Given the description of an element on the screen output the (x, y) to click on. 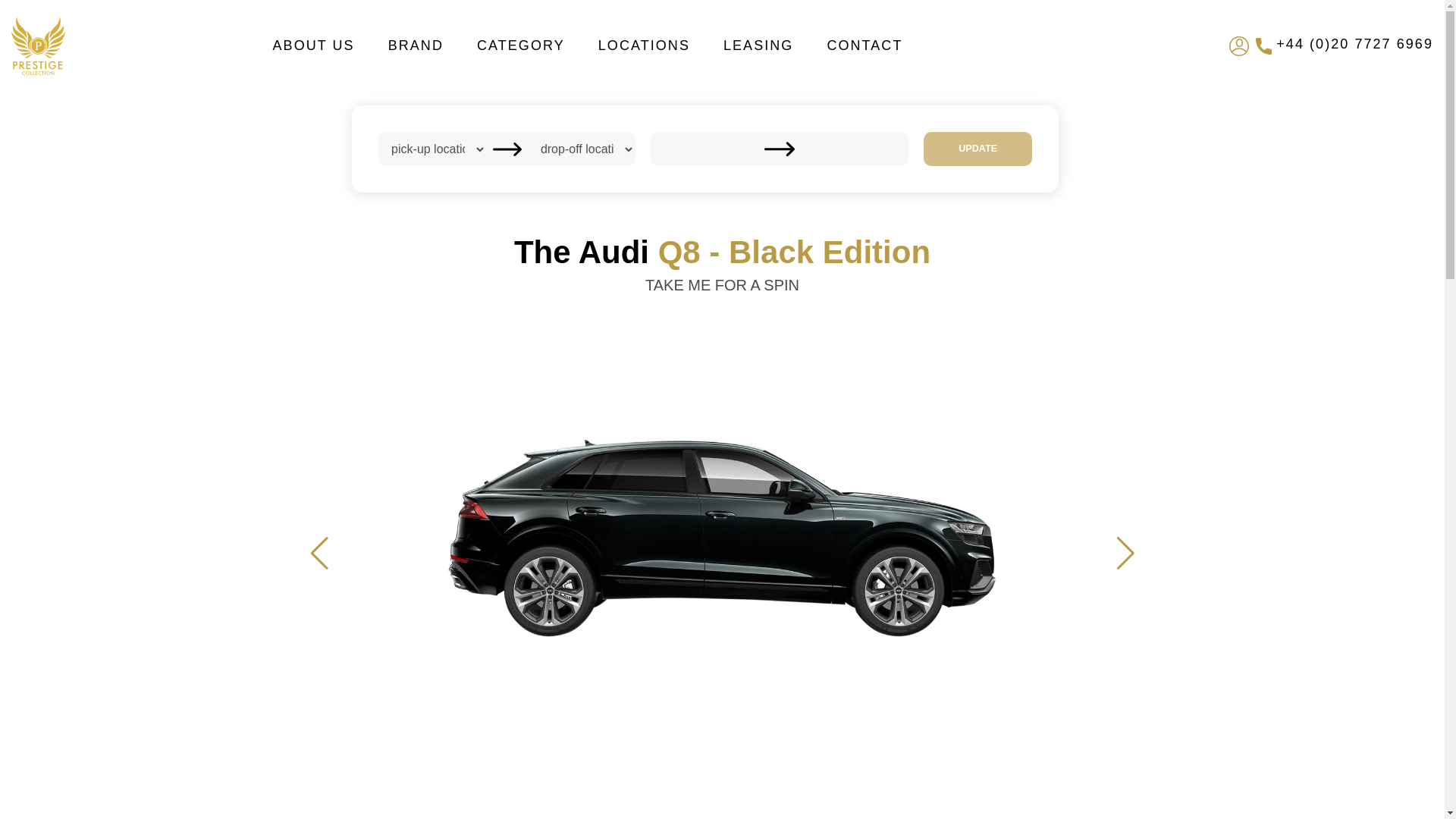
ABOUT US (313, 45)
BRAND (415, 45)
CONTACT (863, 45)
LEASING (757, 45)
CATEGORY (520, 45)
LOCATIONS (643, 45)
